Given the description of an element on the screen output the (x, y) to click on. 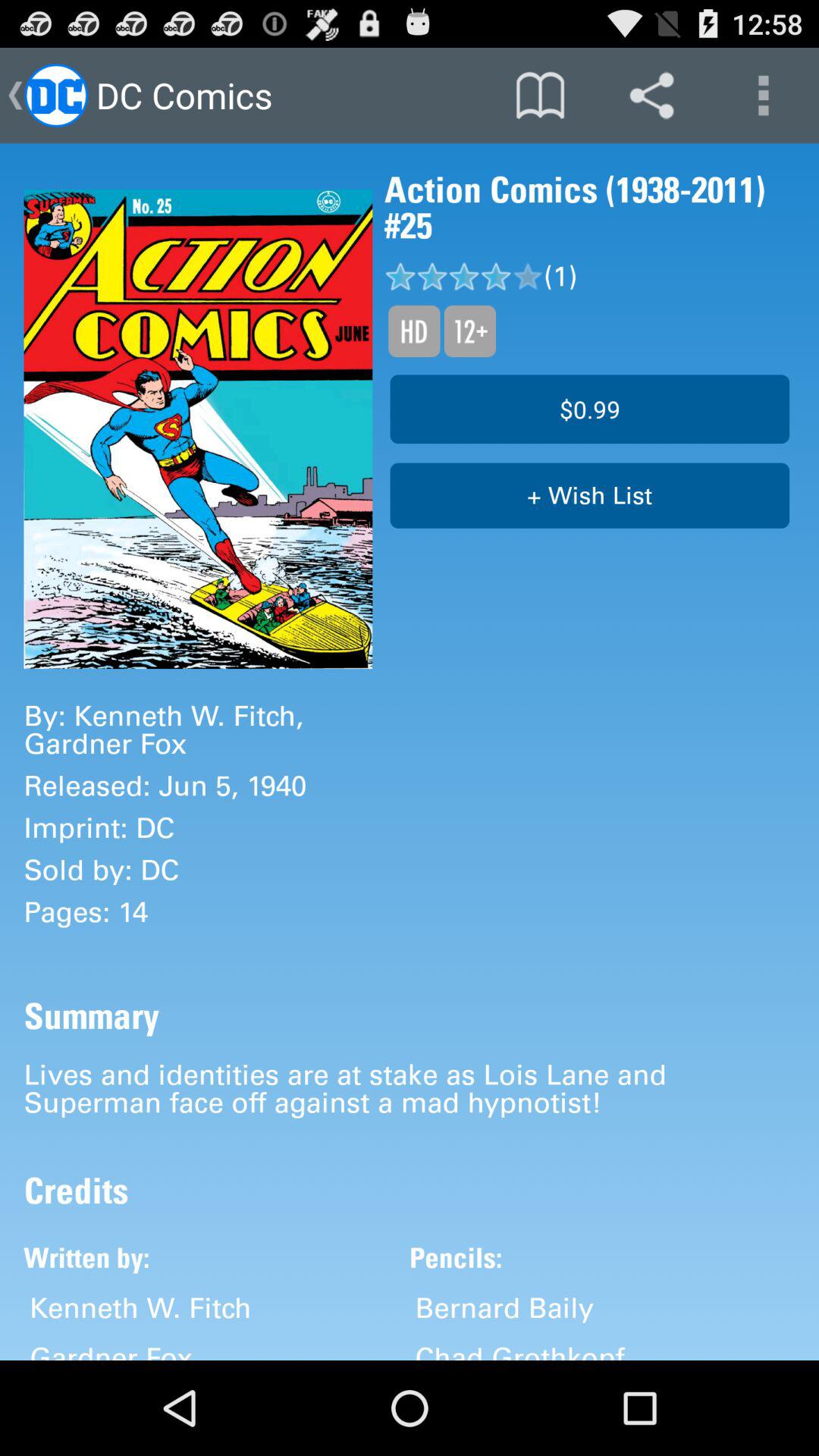
launch + wish list item (589, 495)
